Given the description of an element on the screen output the (x, y) to click on. 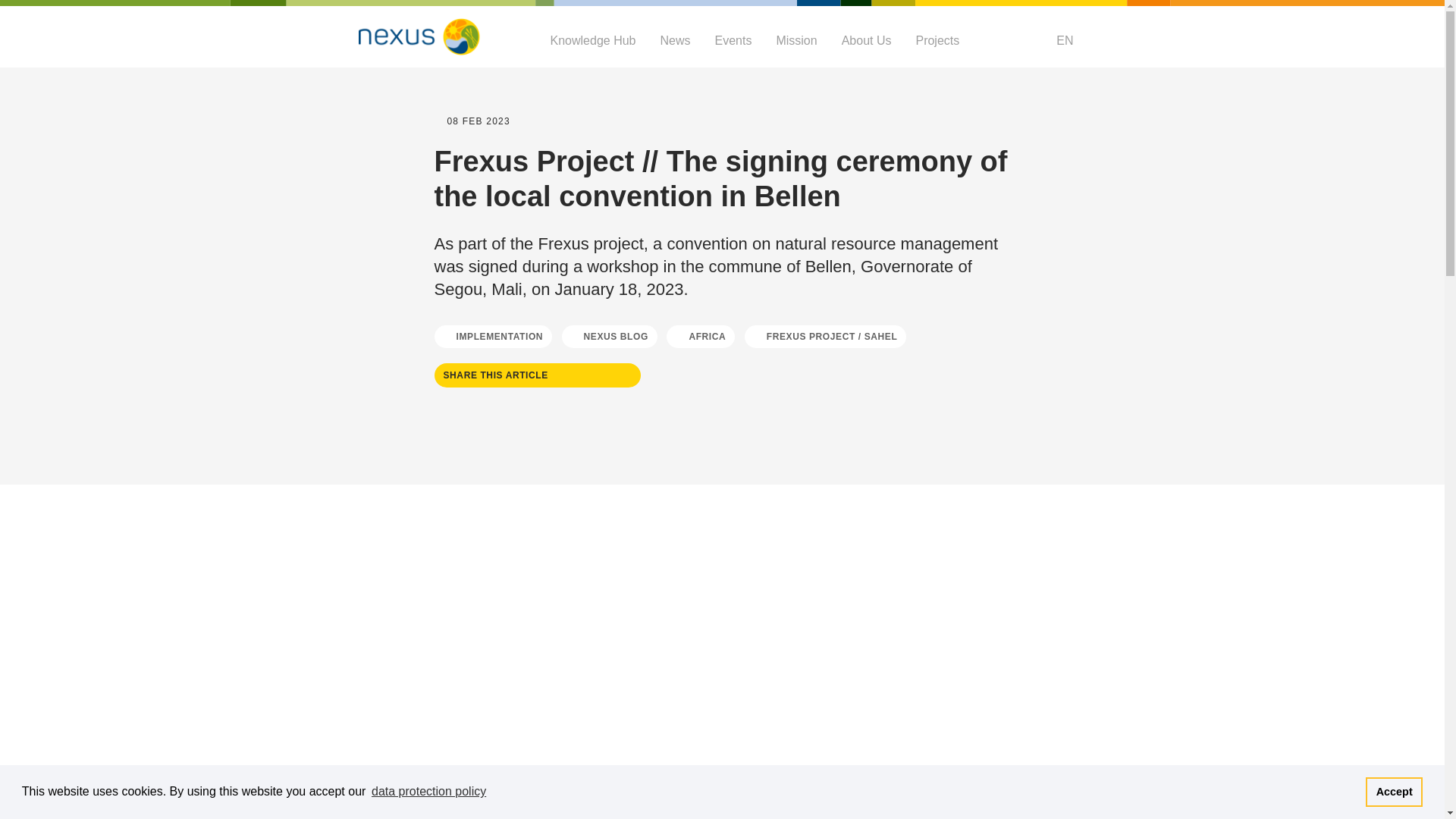
Events (732, 40)
Accept (1393, 791)
Knowledge Hub (593, 40)
Mission (796, 40)
News (674, 40)
EN (1062, 40)
data protection policy (429, 791)
About Us (866, 40)
